Given the description of an element on the screen output the (x, y) to click on. 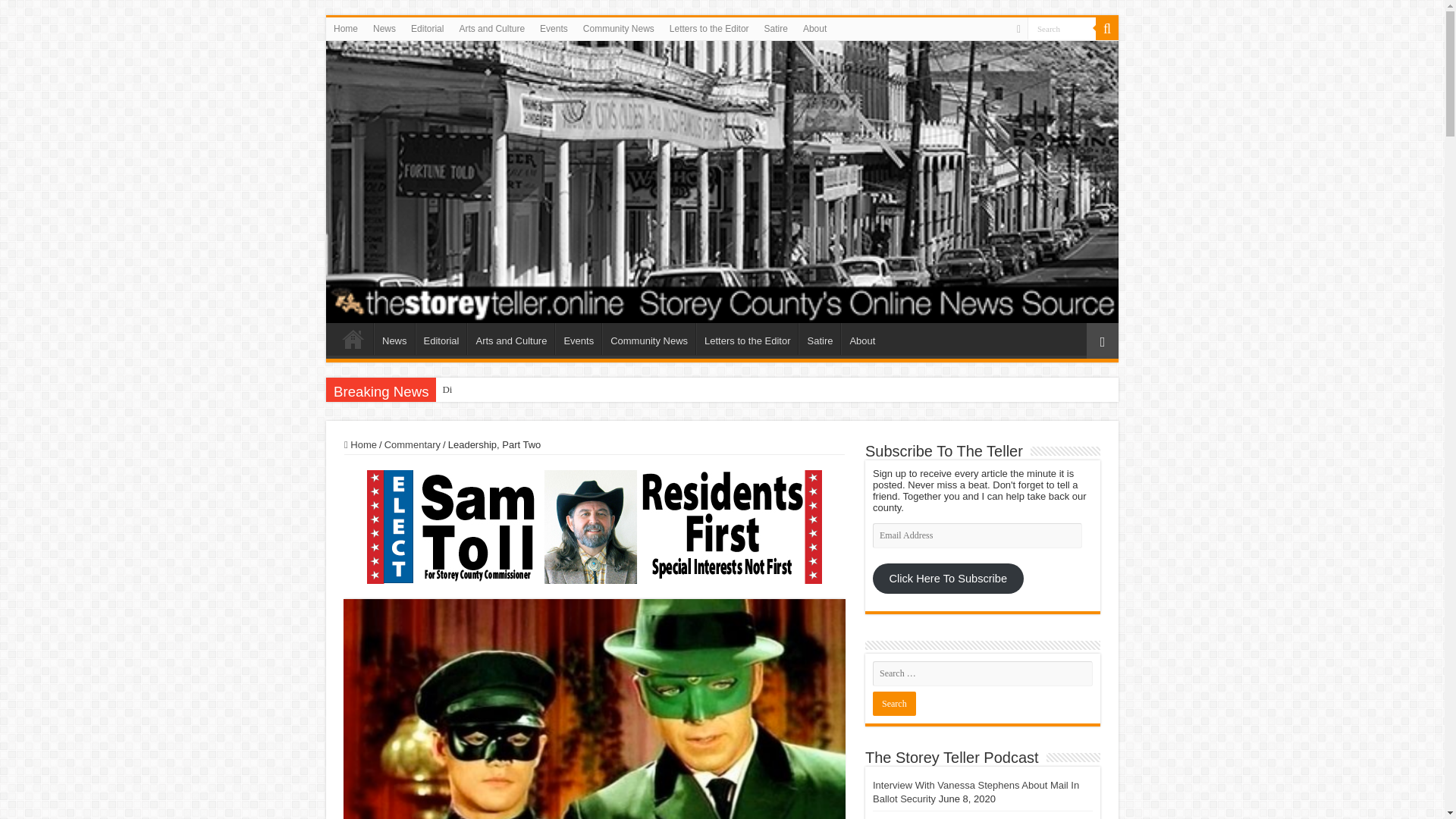
About (861, 338)
Community News (618, 28)
Letters to the Editor (709, 28)
Search (893, 703)
Arts and Culture (491, 28)
Home (360, 444)
Di (446, 389)
News (394, 338)
Search (1061, 28)
Commentary (412, 444)
Elect Sam Toll For County Commissioner (594, 525)
Letters to the Editor (746, 338)
District Three Candidate Forum Set for September 23rd (446, 389)
Home (345, 28)
